Given the description of an element on the screen output the (x, y) to click on. 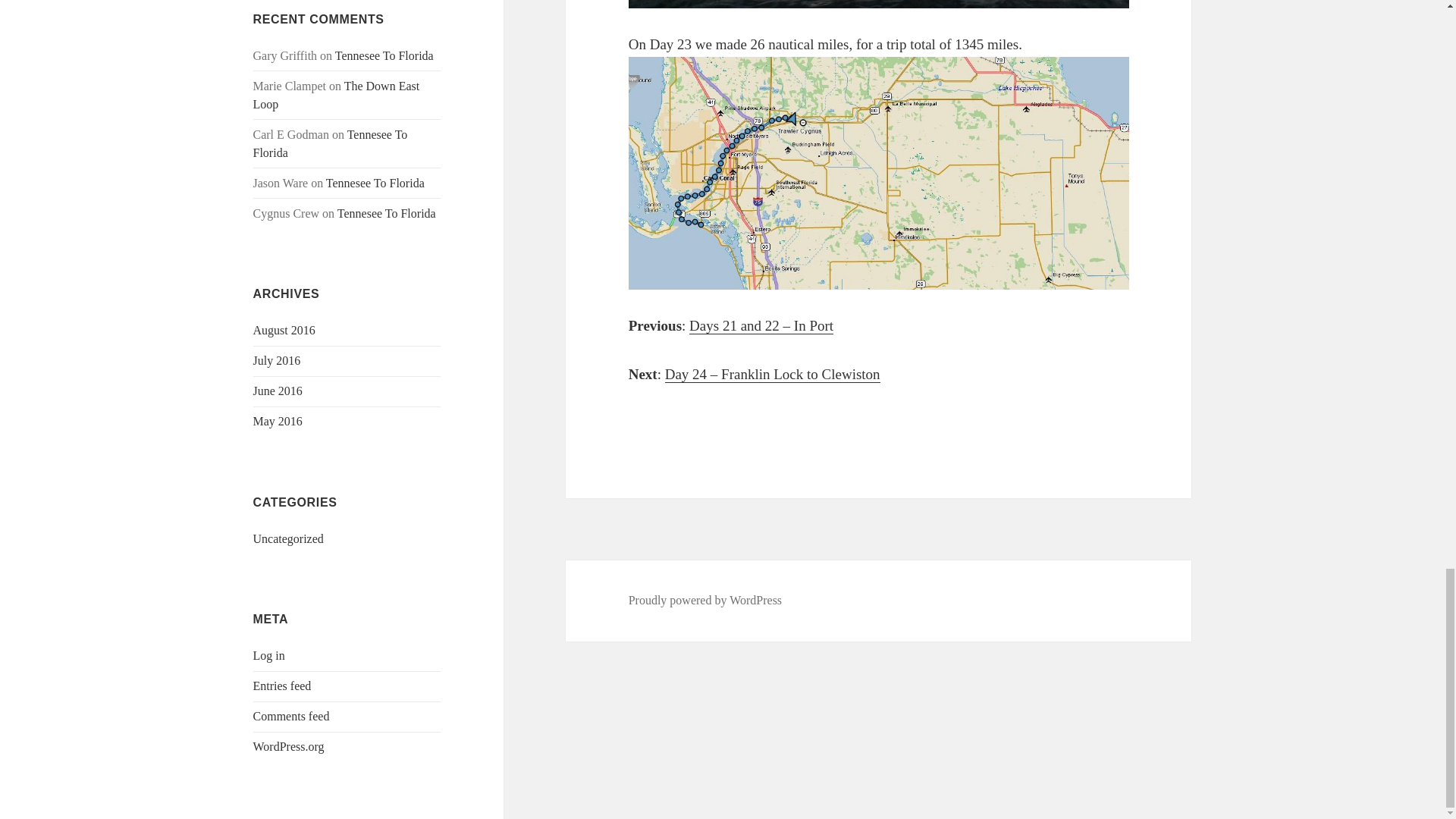
The Down East Loop (336, 94)
Tennesee To Florida (330, 142)
Tennesee To Florida (375, 182)
Tennesee To Florida (383, 55)
